Given the description of an element on the screen output the (x, y) to click on. 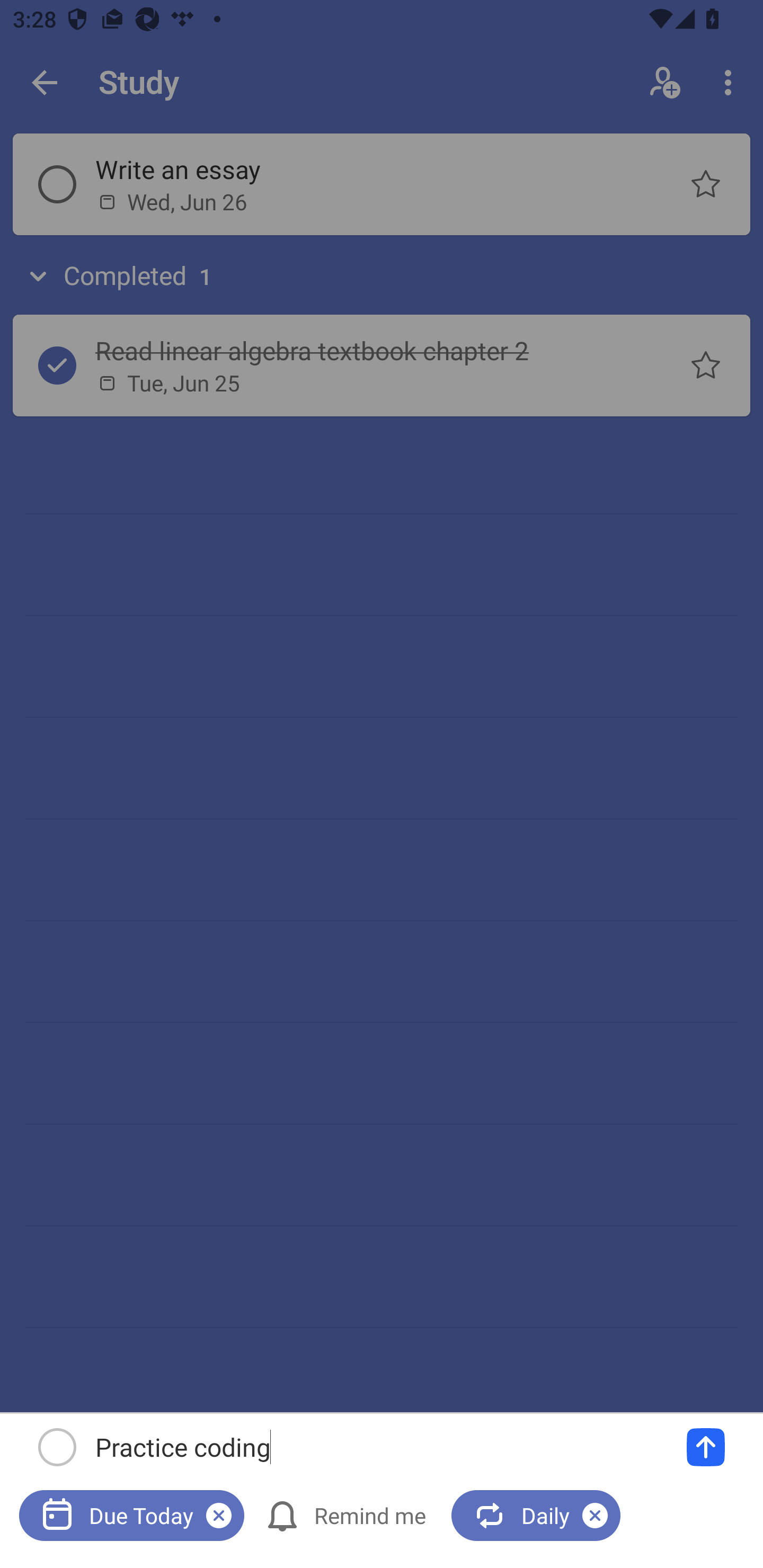
Add a task (705, 1446)
